Given the description of an element on the screen output the (x, y) to click on. 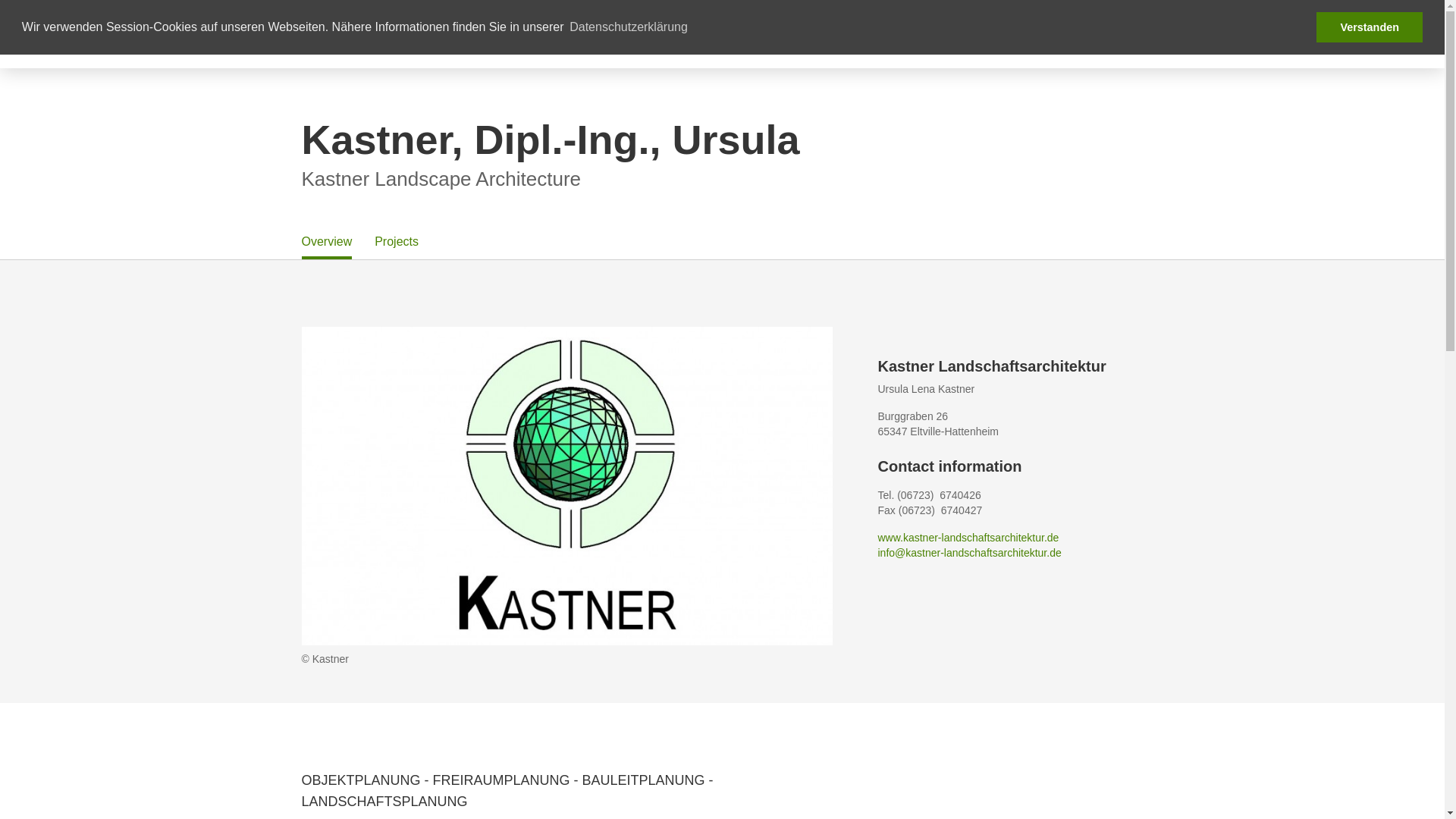
DE (1125, 33)
DE (1125, 33)
Verstanden (1369, 27)
Projects (396, 241)
www.kastner-landschaftsarchitektur.de (968, 537)
Topics (896, 33)
Projects (834, 33)
Offices (772, 33)
111 Years (961, 33)
Overview (326, 241)
